Given the description of an element on the screen output the (x, y) to click on. 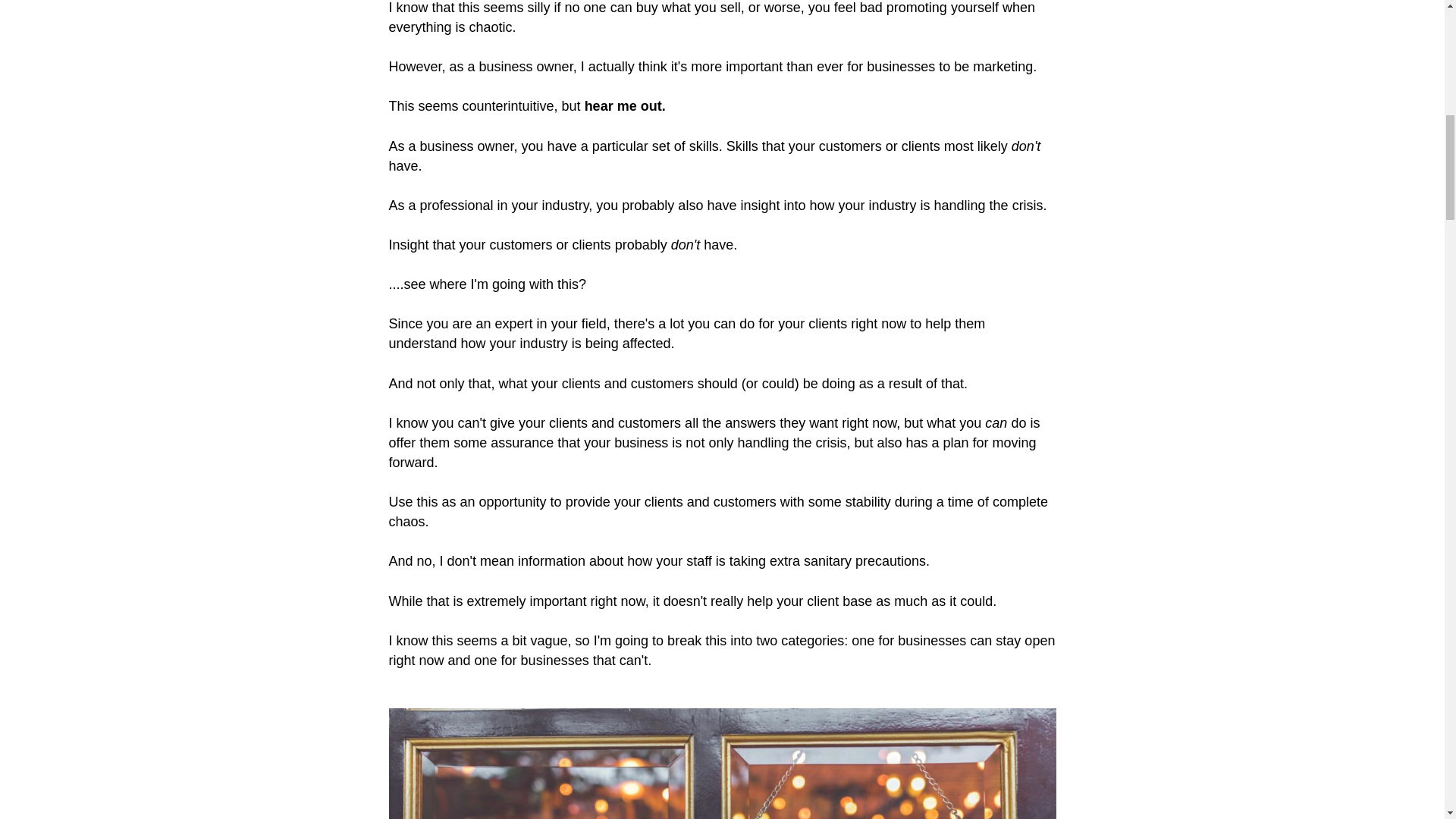
small-business-digital-marketing (721, 763)
